Given the description of an element on the screen output the (x, y) to click on. 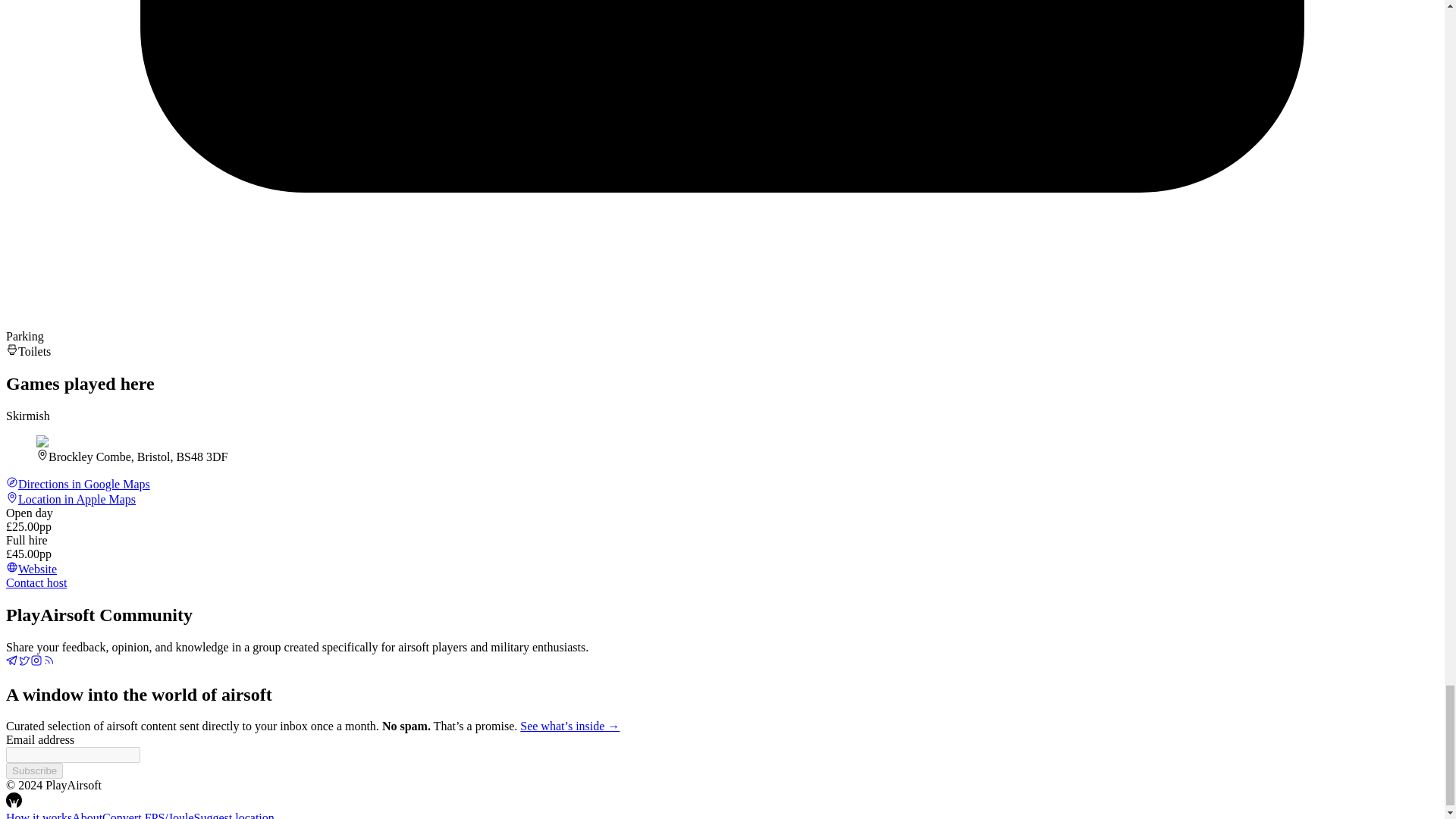
Directions in Google Maps (77, 483)
Join PlayAirsoft group on Telegram (11, 662)
Website (30, 568)
Subscribe (33, 770)
Follow PlayAirsoft on Instagram (36, 662)
Subscribe to our blog feed (48, 662)
Follow PlayAirsoft on Twitter (23, 662)
Contact host (35, 582)
Location in Apple Maps (70, 499)
